Given the description of an element on the screen output the (x, y) to click on. 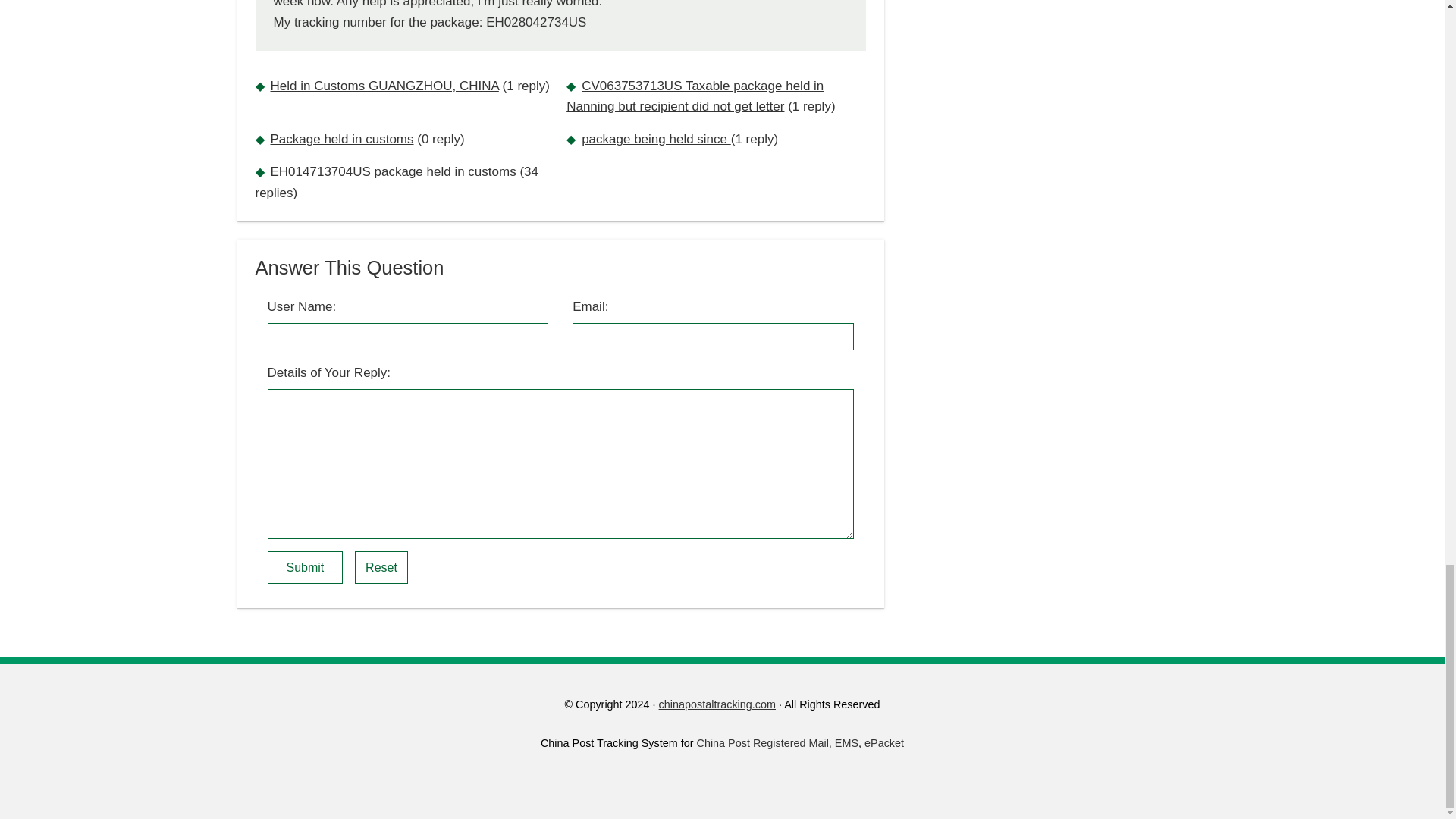
Package held in customs (341, 138)
EH014713704US package held in customs (392, 171)
Held in Customs GUANGZHOU, CHINA (383, 85)
package being held since  (655, 138)
Held in Customs GUANGZHOU, CHINA (383, 85)
